Given the description of an element on the screen output the (x, y) to click on. 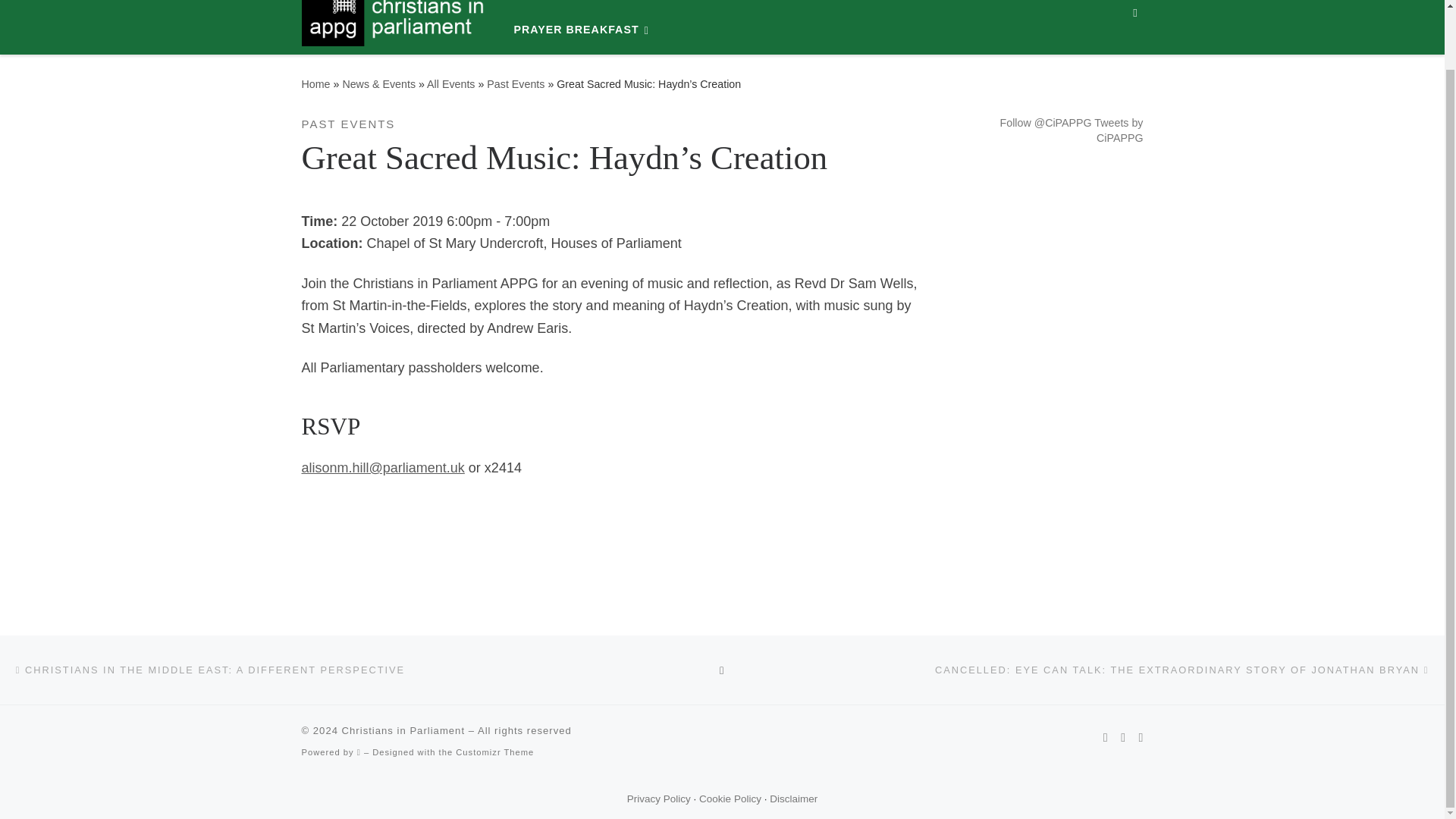
View all posts in Past Events (348, 124)
All Events (450, 83)
Search (1135, 18)
PRAYER BREAKFAST (583, 29)
Customizr Theme (494, 751)
Past Events (515, 83)
RESOURCES (915, 6)
Christians in Parliament (403, 729)
ABOUT US (552, 6)
Christians in Parliament (315, 83)
GET INVOLVED (663, 6)
